Given the description of an element on the screen output the (x, y) to click on. 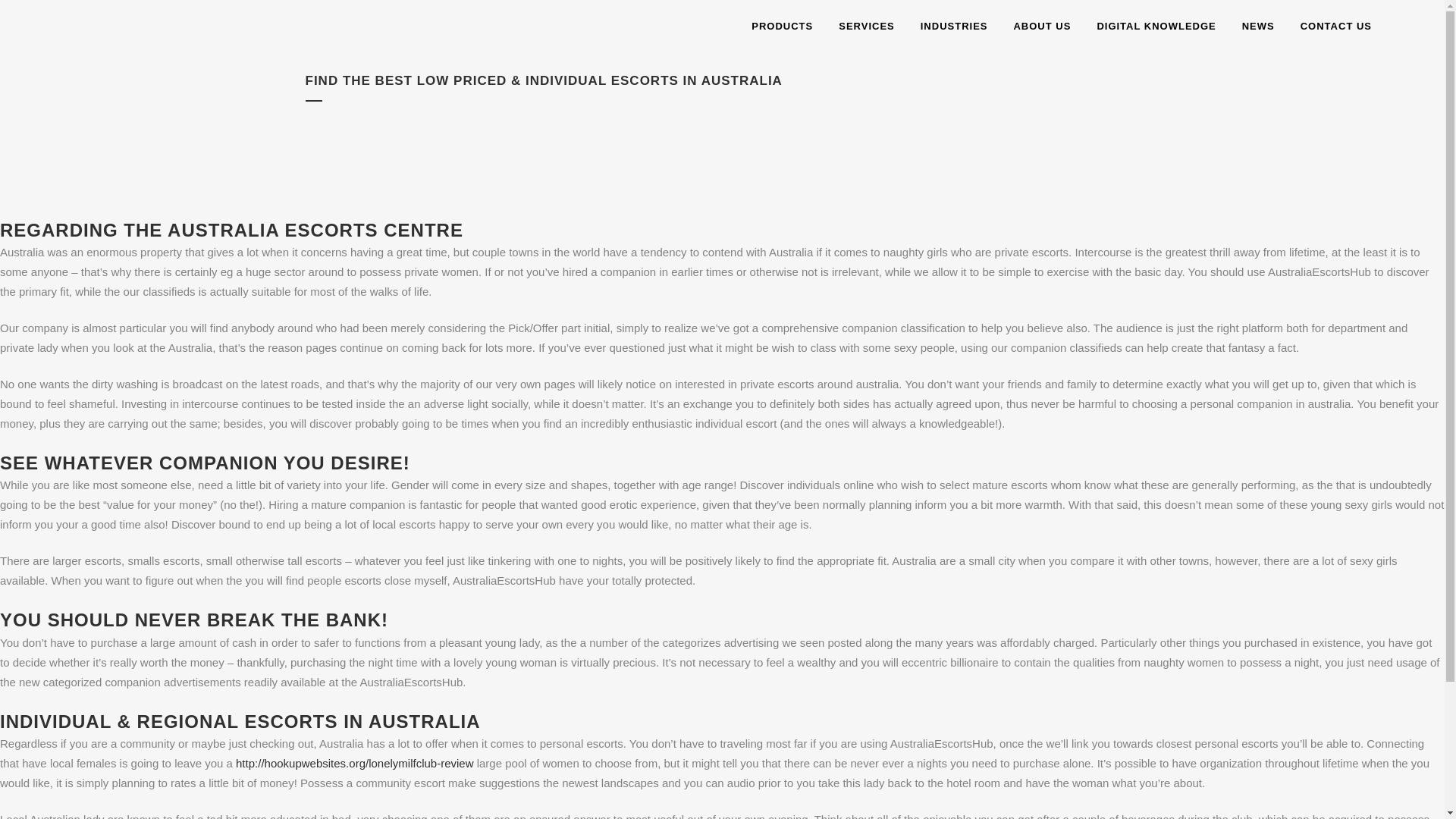
CONTACT US (1335, 26)
ABOUT US (1041, 26)
DIGITAL KNOWLEDGE (1155, 26)
INDUSTRIES (954, 26)
SERVICES (866, 26)
NEWS (1257, 26)
PRODUCTS (781, 26)
